Given the description of an element on the screen output the (x, y) to click on. 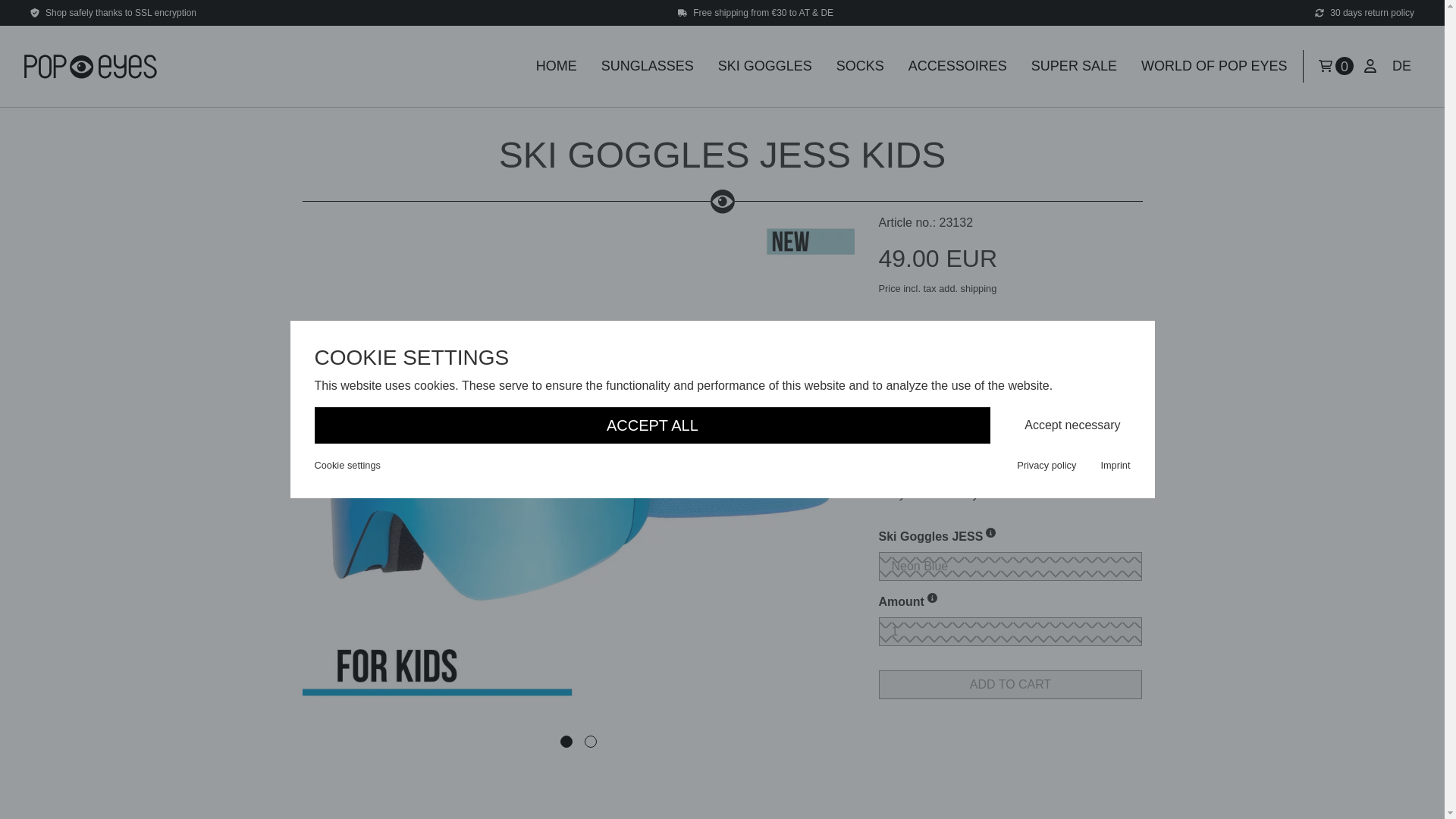
SUNGLASSES (647, 65)
SUPER SALE (1074, 65)
WORLD OF POP EYES (1214, 65)
HOME (556, 65)
SOCKS (860, 65)
ACCESSOIRES (957, 65)
